Given the description of an element on the screen output the (x, y) to click on. 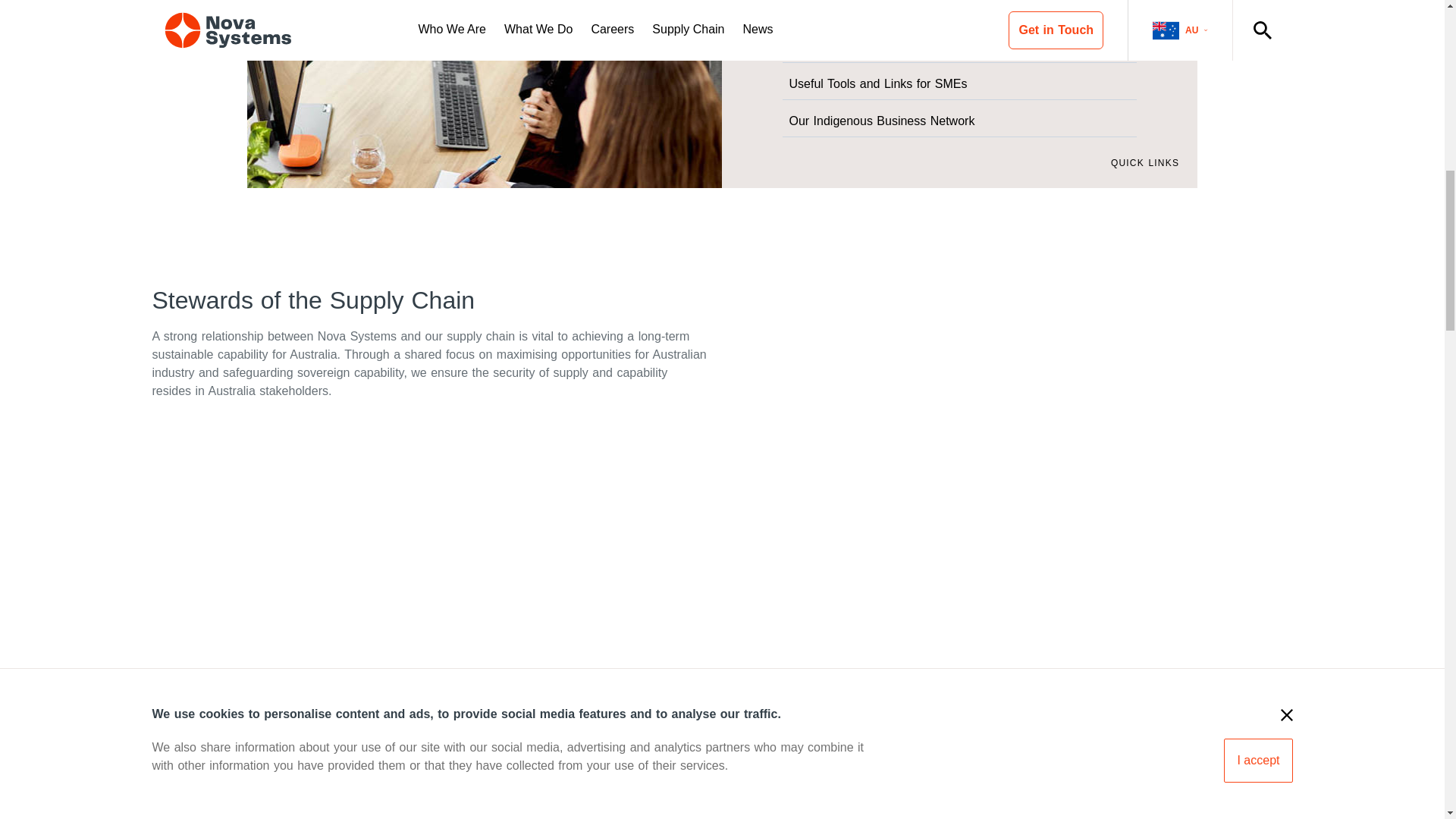
Useful Tools and Links for SMEs (960, 83)
Join Our Supply Chain (960, 12)
Our Indigenous Business Network (960, 121)
Frequently Asked Questions (960, 47)
